Given the description of an element on the screen output the (x, y) to click on. 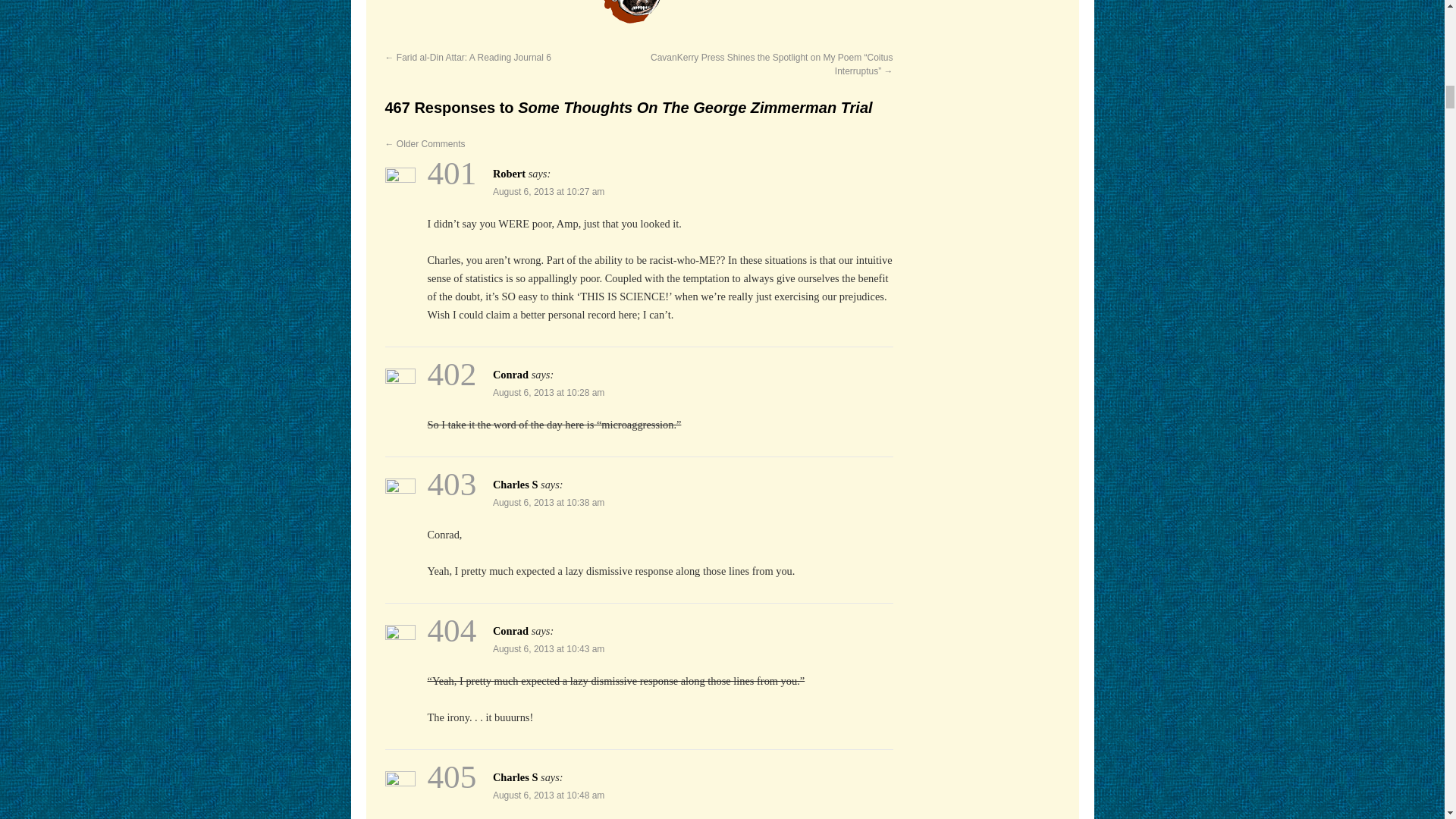
August 6, 2013 at 10:27 am (548, 191)
August 6, 2013 at 10:28 am (548, 392)
August 6, 2013 at 10:38 am (548, 502)
August 6, 2013 at 10:48 am (548, 795)
August 6, 2013 at 10:43 am (548, 648)
